Given the description of an element on the screen output the (x, y) to click on. 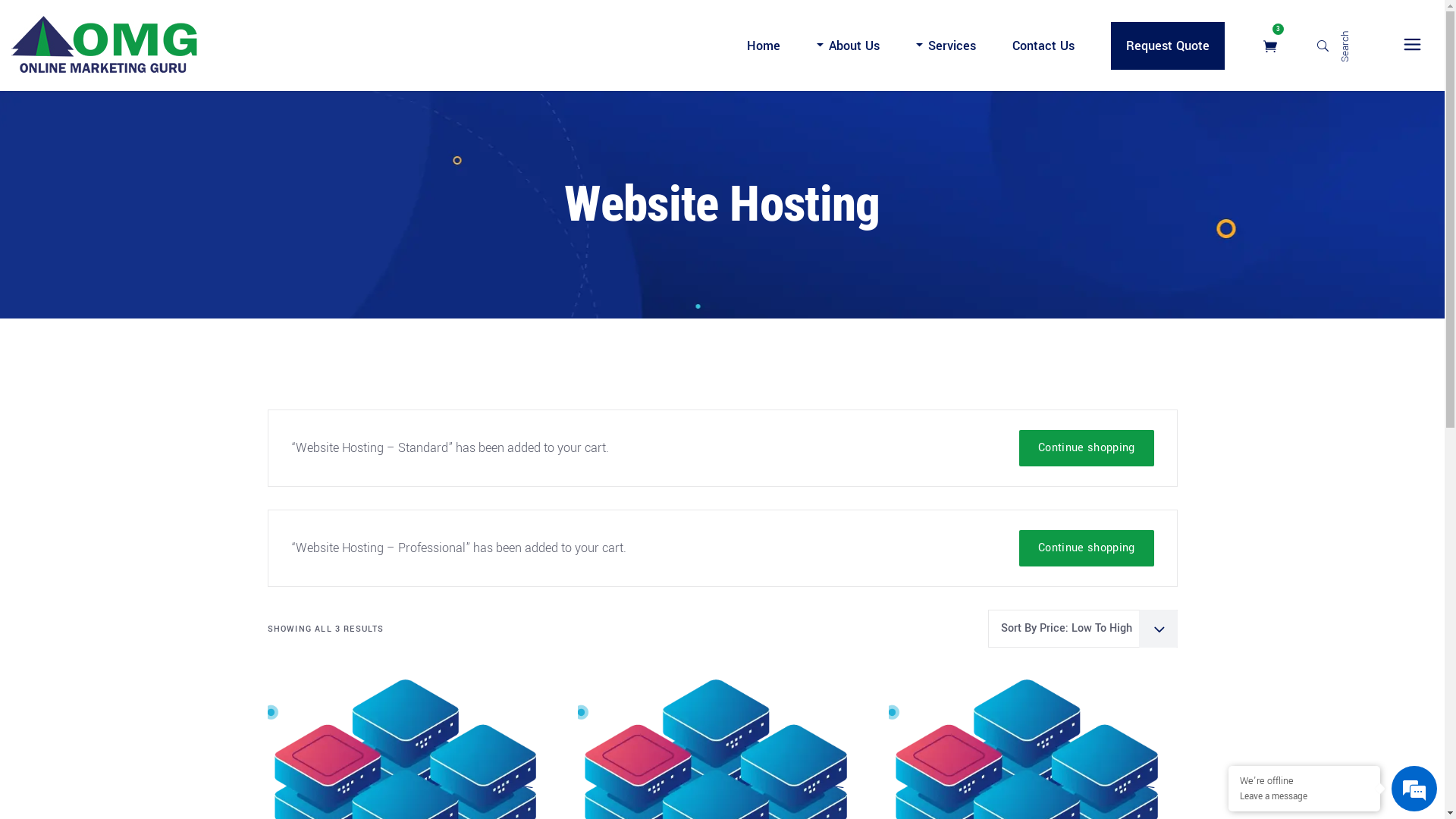
Request Quote Element type: text (1167, 45)
Services Element type: text (945, 44)
Home Element type: text (763, 44)
Continue shopping Element type: text (1086, 548)
Continue shopping Element type: text (1086, 447)
3 Element type: text (1270, 45)
Search Element type: text (1338, 45)
About Us Element type: text (847, 44)
Contact Us Element type: text (1043, 44)
